Given the description of an element on the screen output the (x, y) to click on. 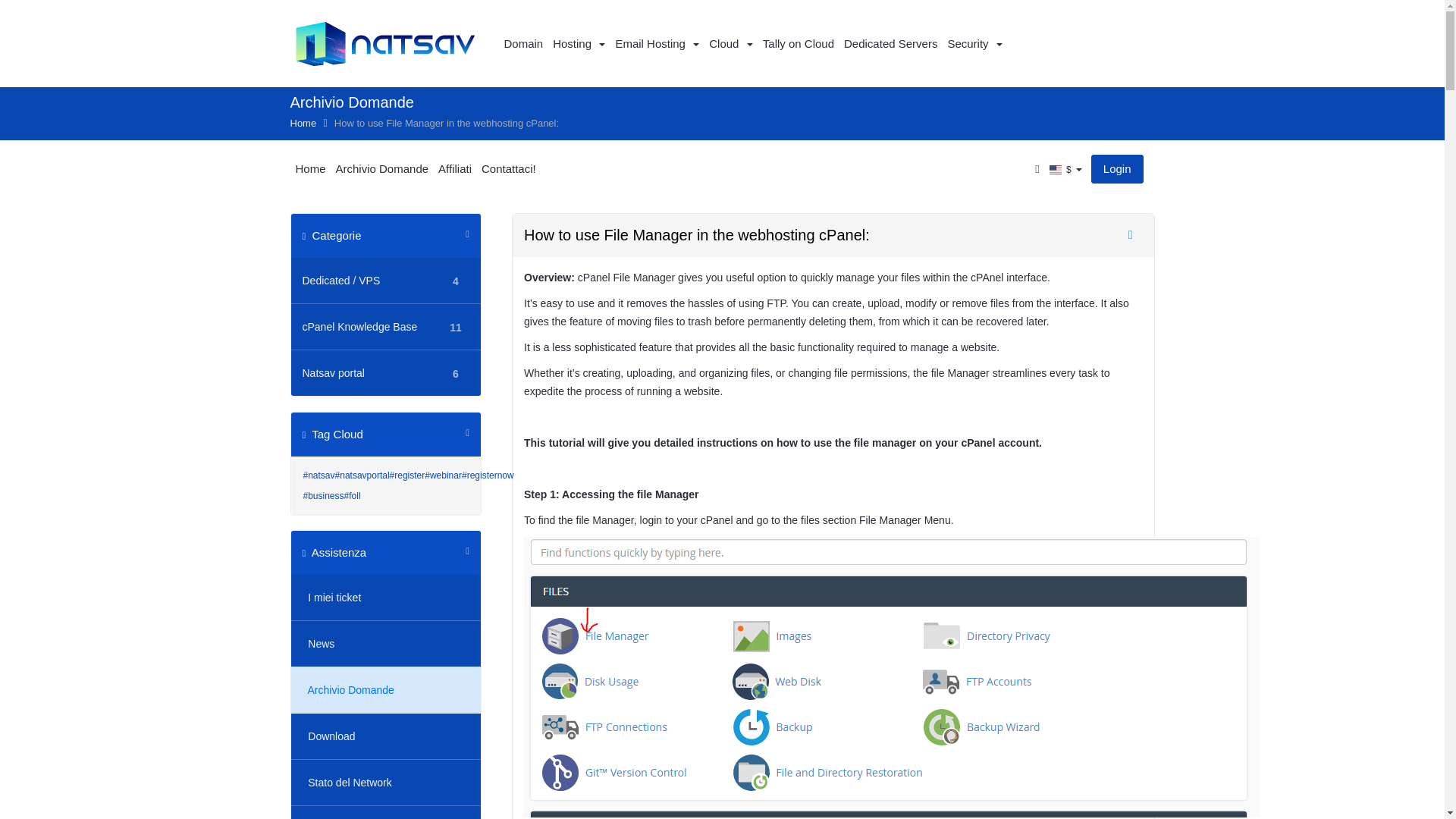
Contattaci! (508, 168)
Dedicated Servers (386, 326)
Hosting   (890, 43)
Cloud   (578, 43)
Home (730, 43)
Email Hosting   (303, 122)
Tally on Cloud (656, 43)
Archivio Domande (797, 43)
Natsav portal (381, 168)
cPanel Knowledge Base (371, 373)
Login (386, 372)
Security   (371, 326)
